Given the description of an element on the screen output the (x, y) to click on. 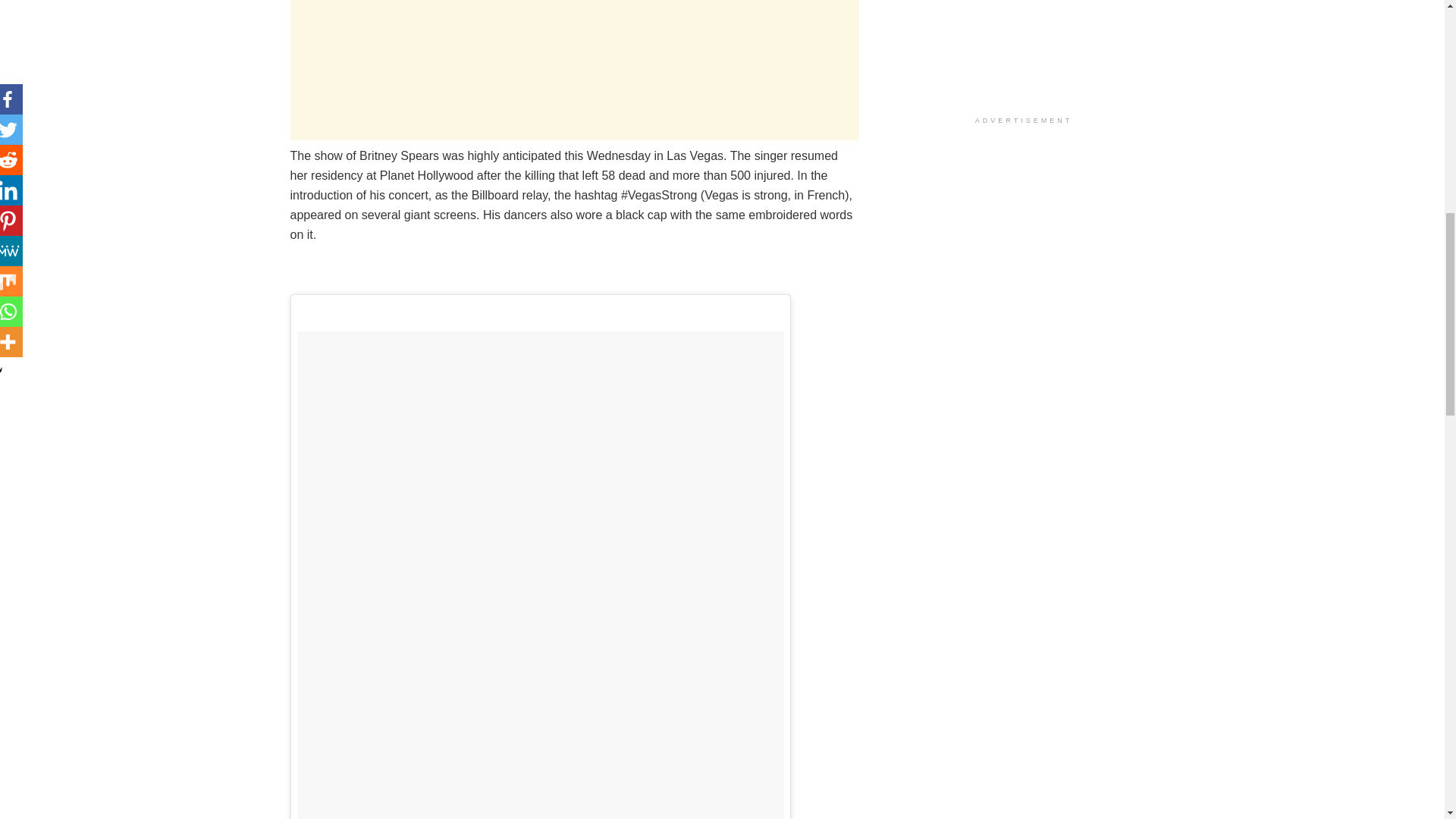
Advertisement (574, 70)
